Given the description of an element on the screen output the (x, y) to click on. 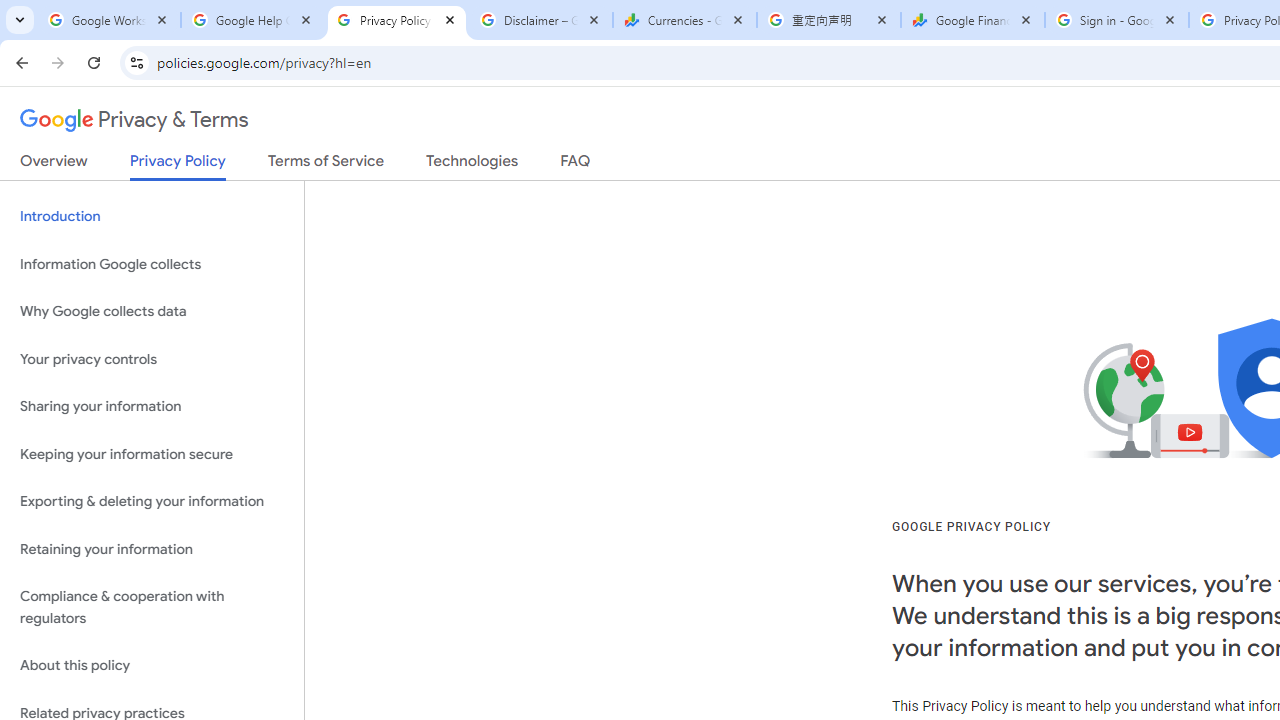
Retaining your information (152, 548)
